Given the description of an element on the screen output the (x, y) to click on. 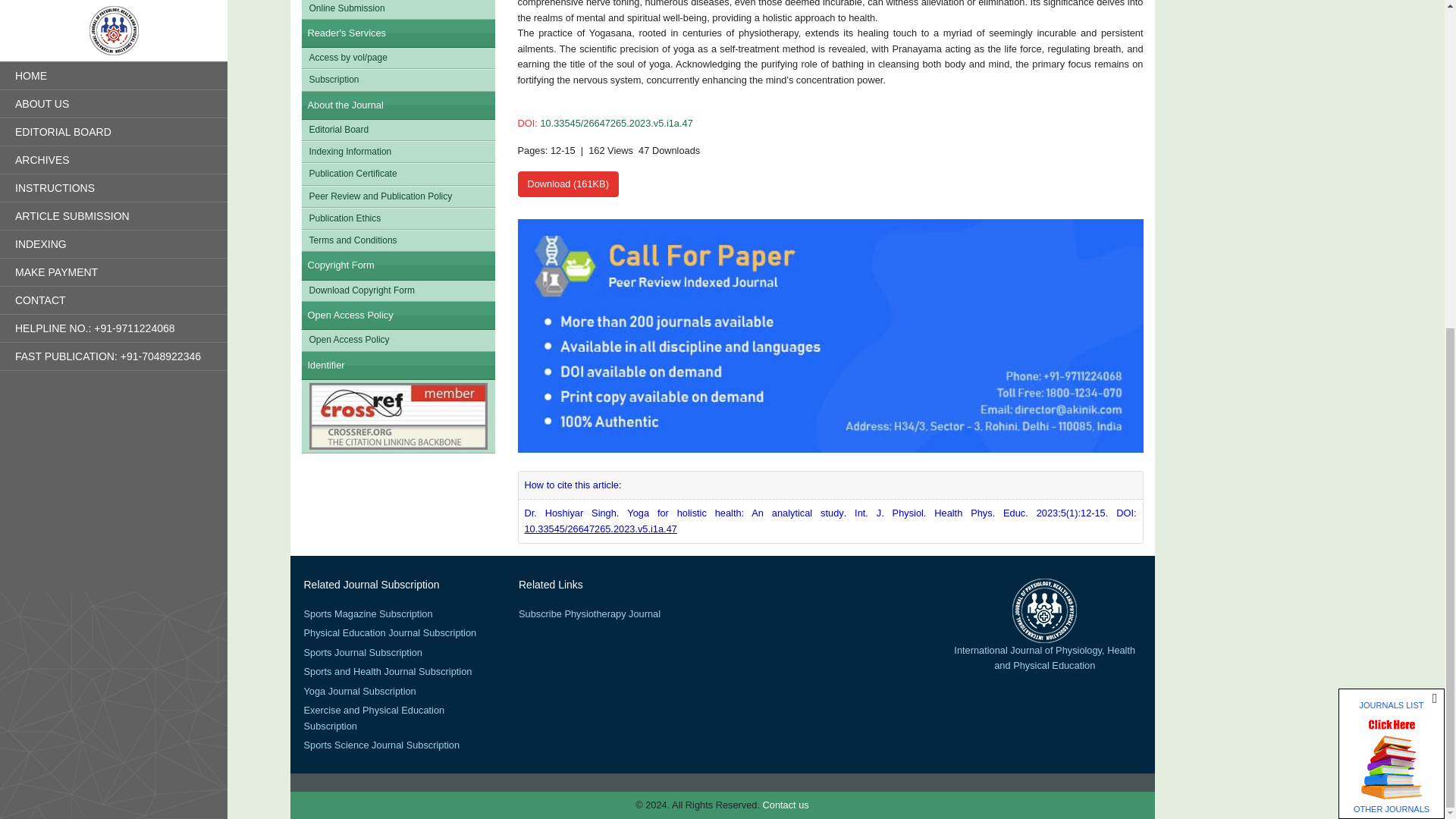
Online Submission (398, 9)
Peer Review and Publication Policy (398, 196)
Publication Ethics (398, 218)
Indexing Information (398, 151)
Publication Certificate (398, 173)
Subscription (398, 79)
Download Copyright Form (398, 290)
Editorial Board (398, 129)
Terms and Conditions (398, 240)
Open Access Policy (398, 340)
